Given the description of an element on the screen output the (x, y) to click on. 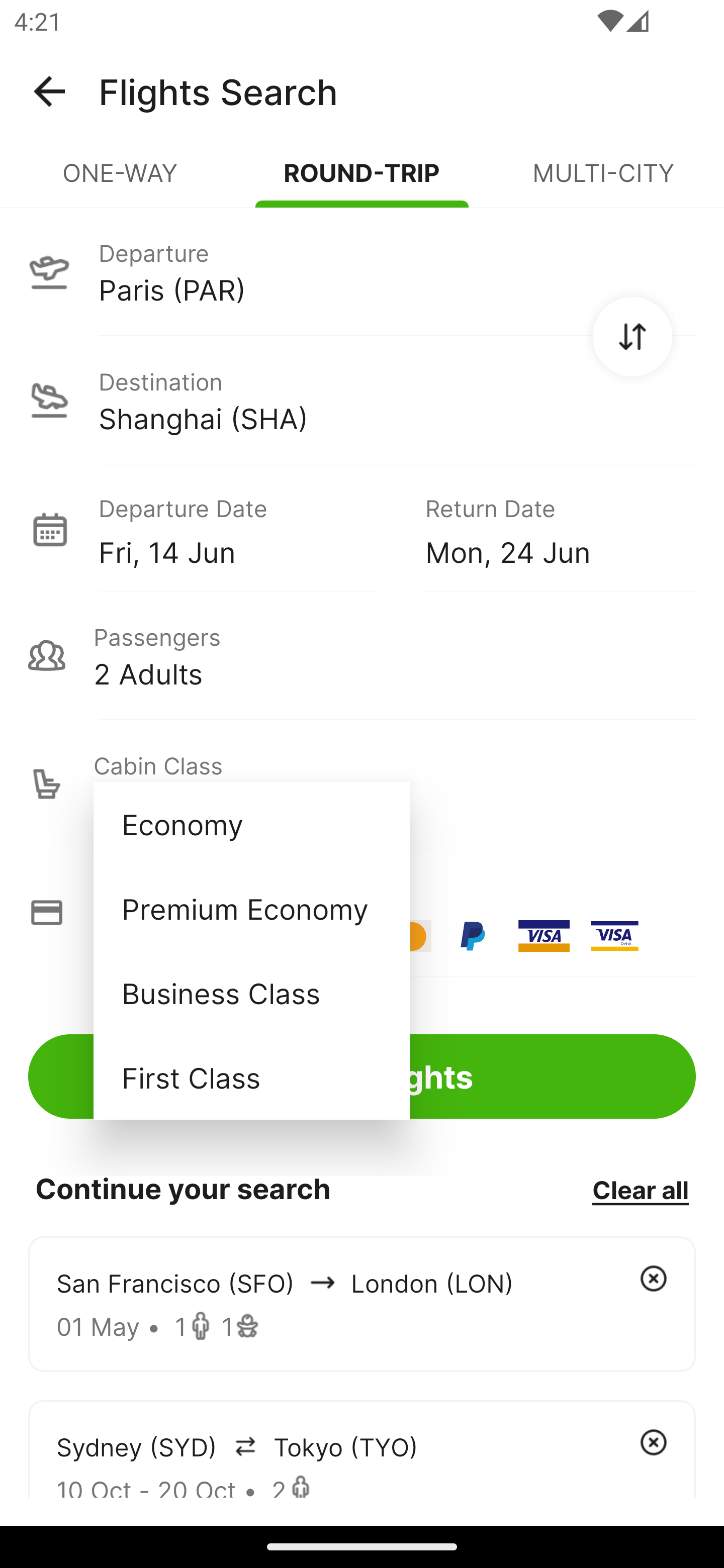
Economy (251, 824)
Premium Economy (251, 908)
Business Class (251, 992)
First Class (251, 1076)
